Given the description of an element on the screen output the (x, y) to click on. 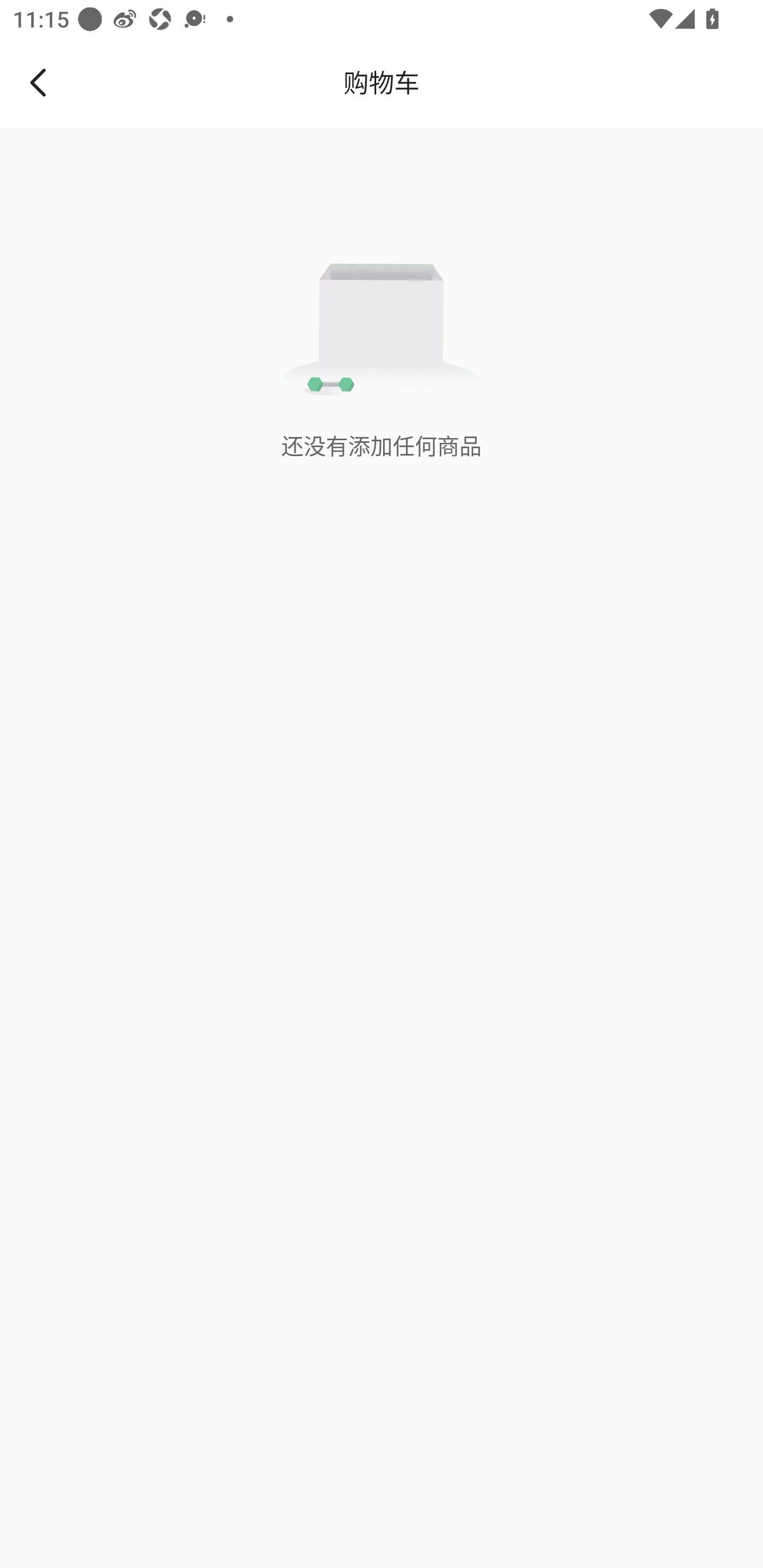
Left Button In Title Bar (50, 82)
